Given the description of an element on the screen output the (x, y) to click on. 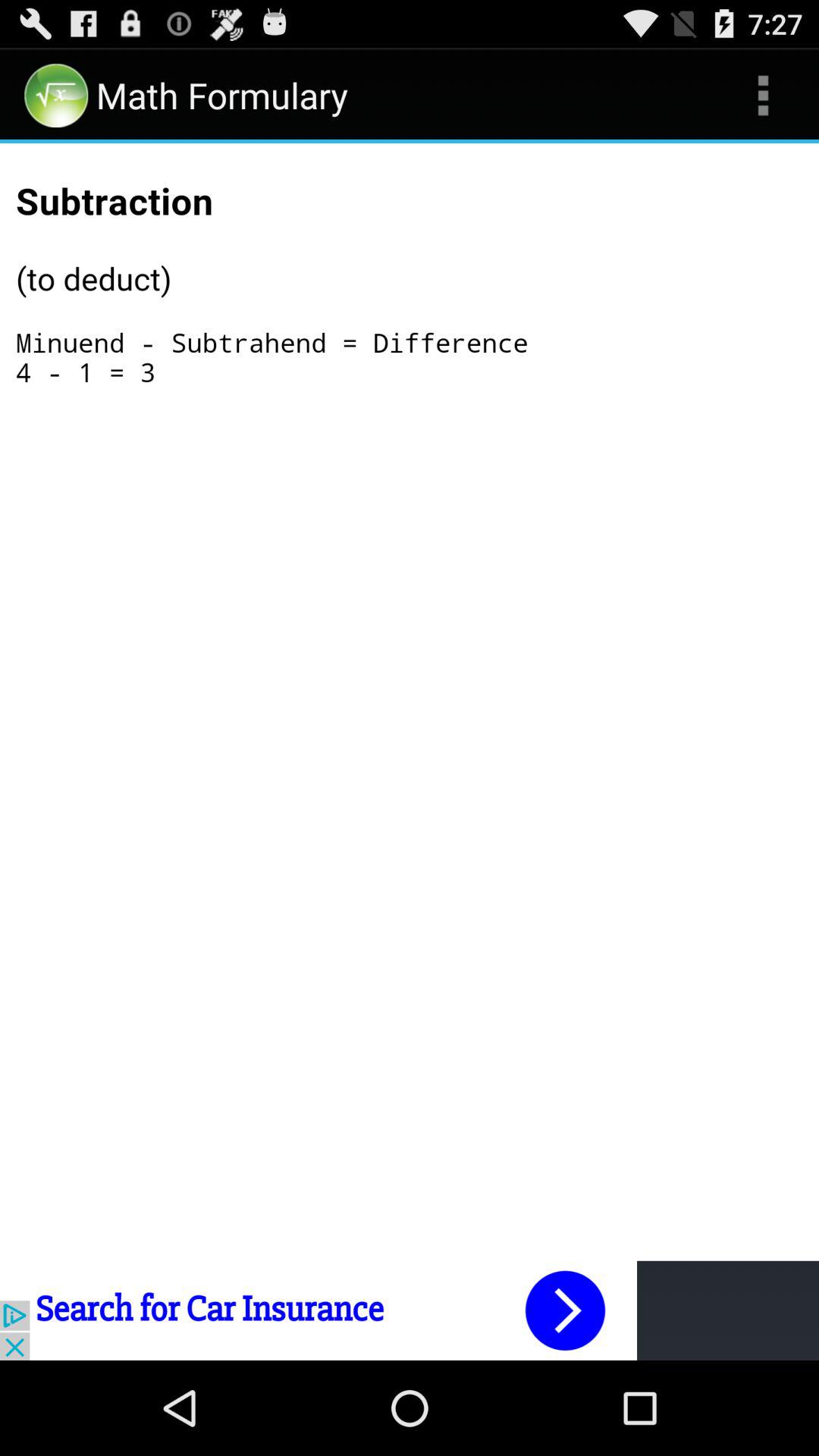
advertisement link (409, 1310)
